Given the description of an element on the screen output the (x, y) to click on. 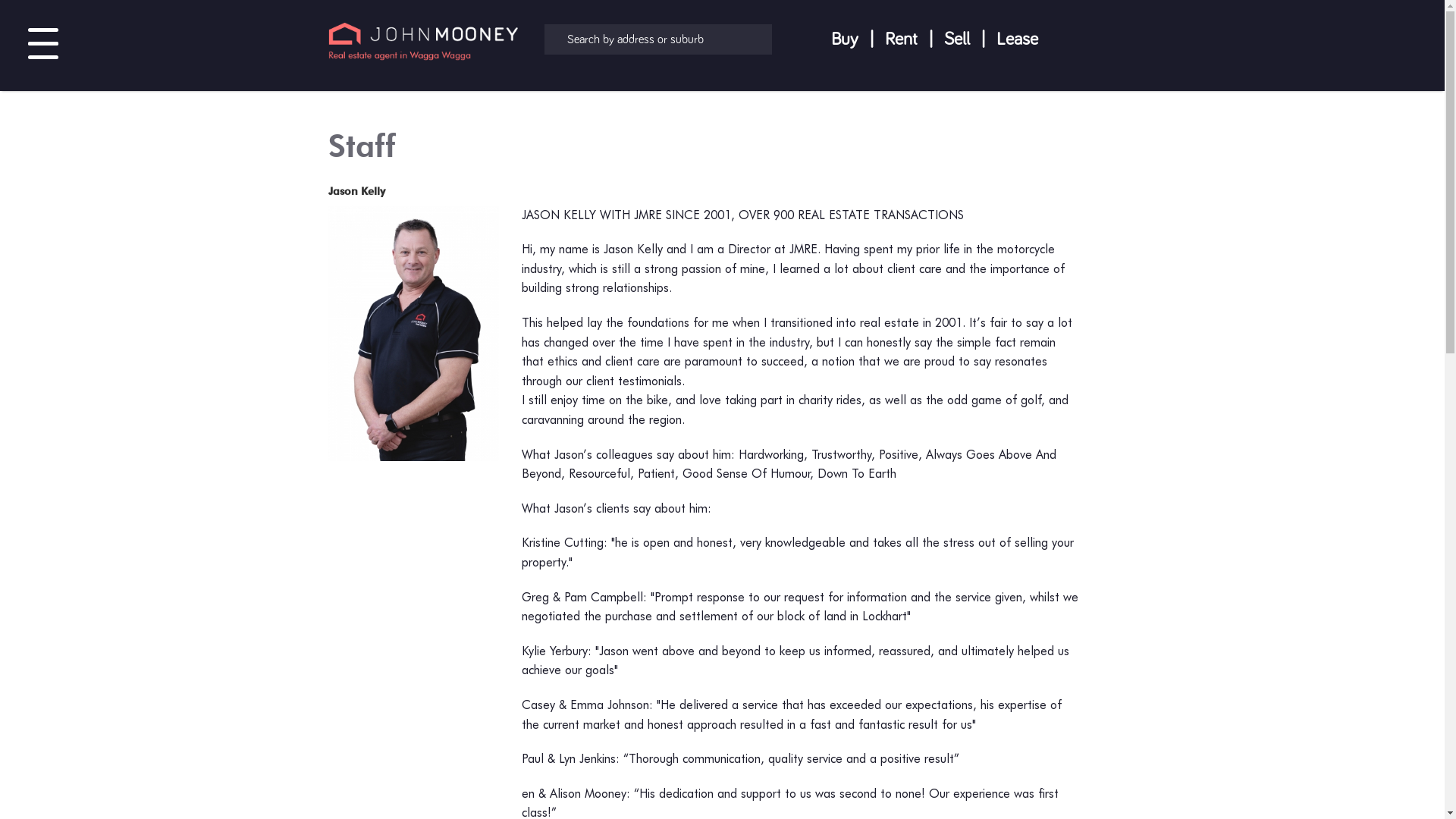
Lease Element type: text (1016, 39)
Jason Kelly Element type: text (355, 191)
Home Element type: hover (422, 45)
Rent Element type: text (901, 39)
Sell Element type: text (956, 39)
Skip to main content Element type: text (48, 0)
Buy Element type: text (843, 39)
